Given the description of an element on the screen output the (x, y) to click on. 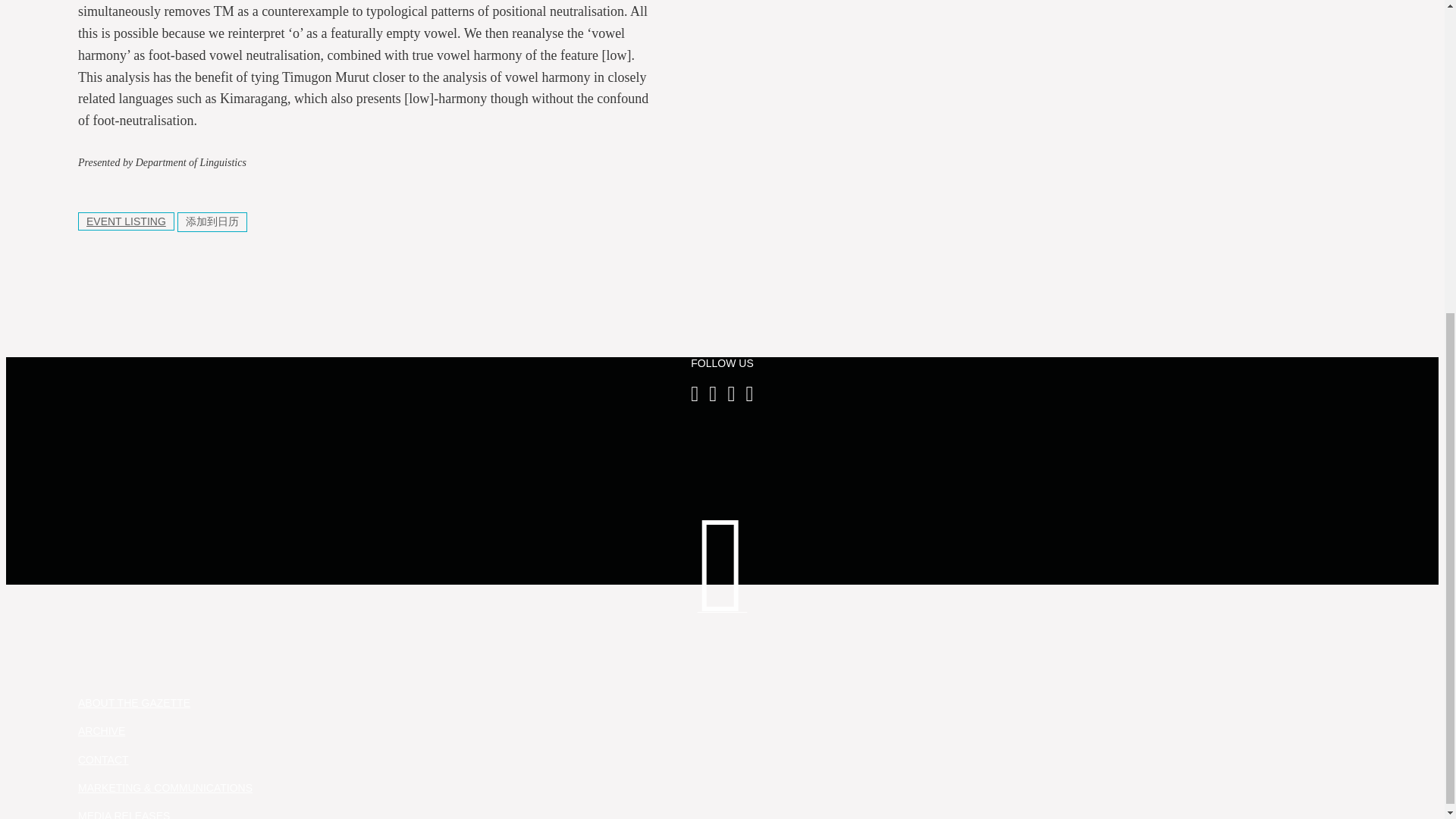
EVENT LISTING (126, 221)
